Given the description of an element on the screen output the (x, y) to click on. 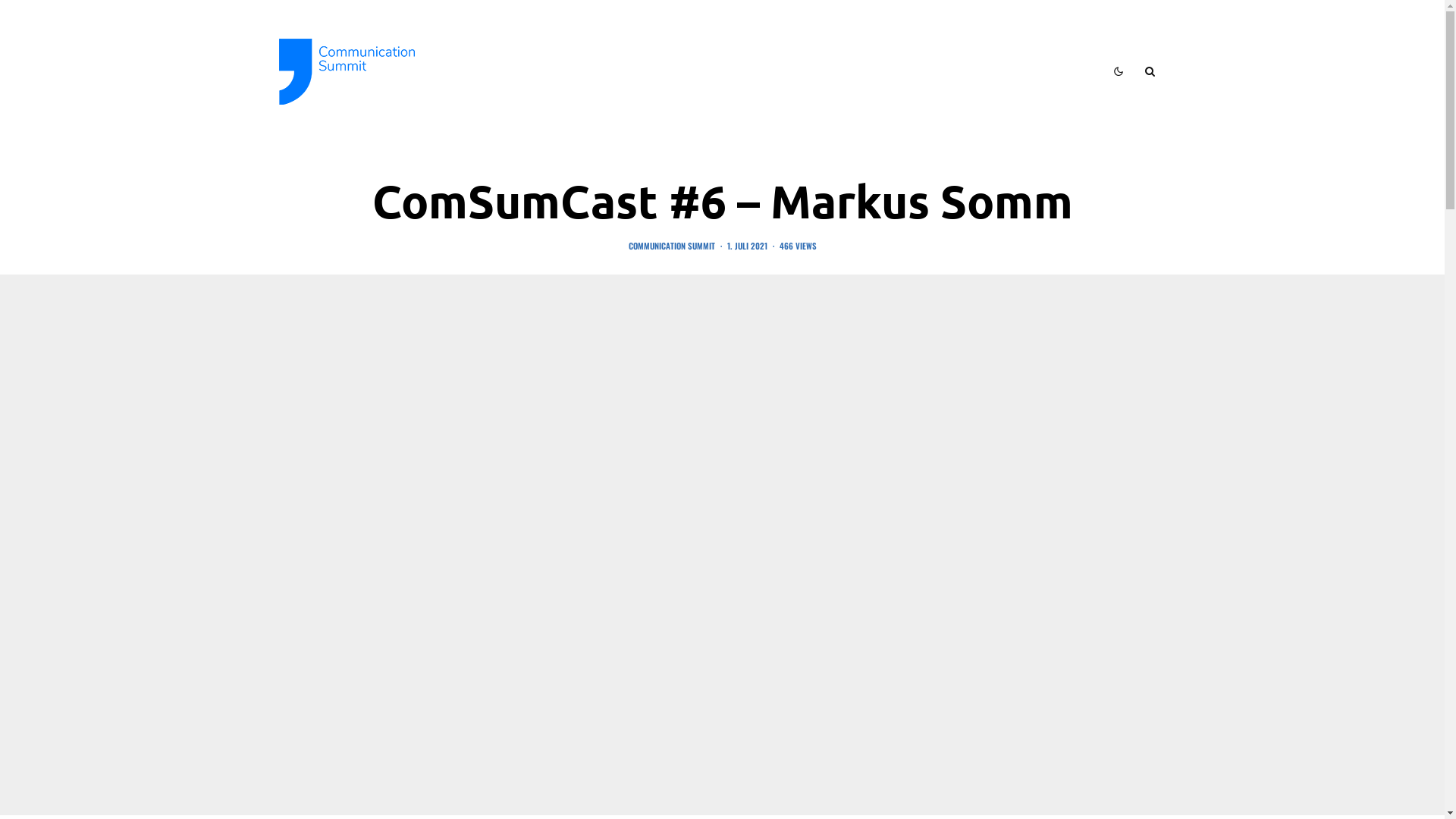
COMMUNICATION SUMMIT Element type: text (670, 245)
